Given the description of an element on the screen output the (x, y) to click on. 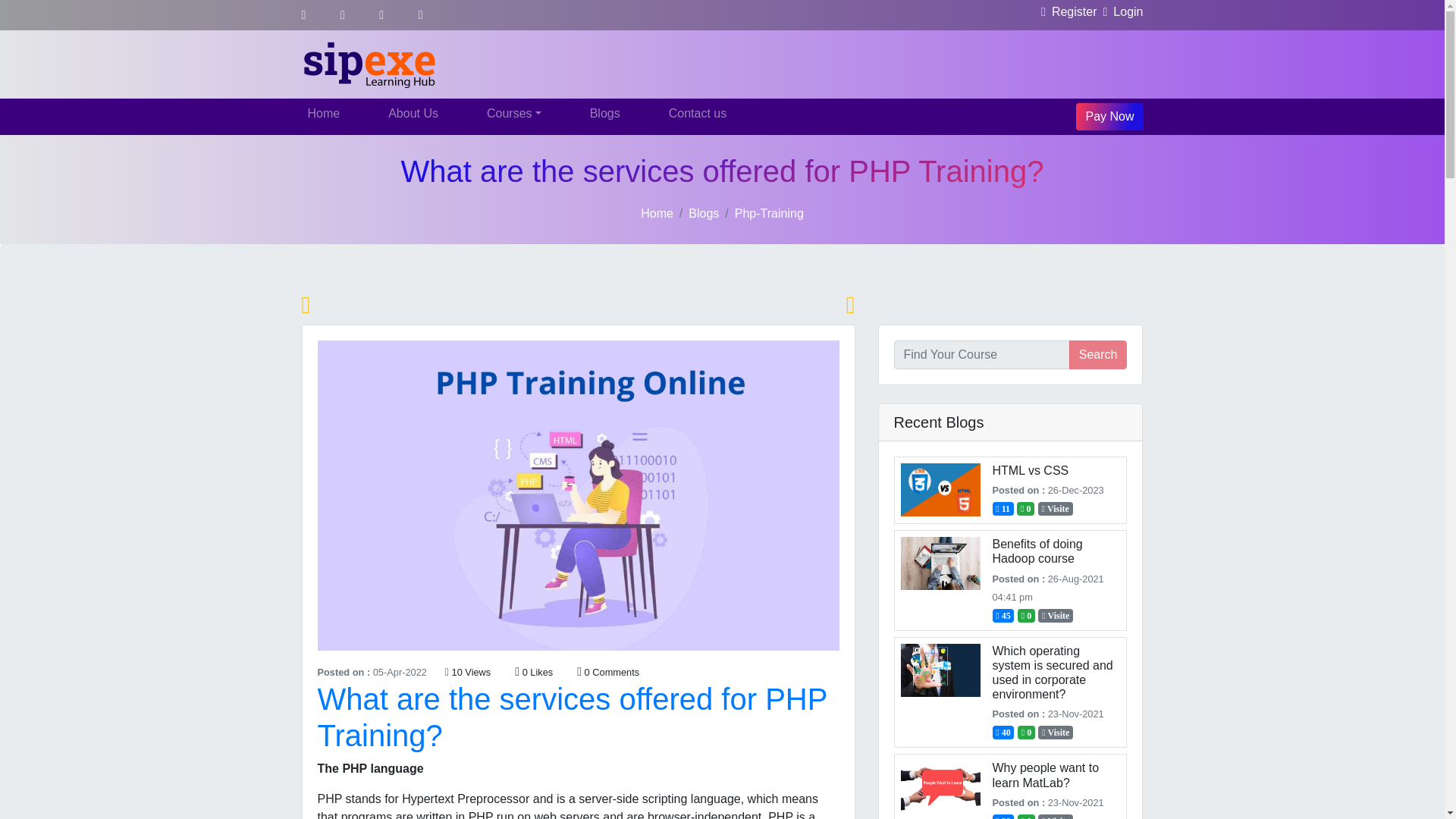
About Us (412, 113)
Register (1065, 11)
Courses (513, 113)
Login (1119, 11)
Home (323, 113)
